Given the description of an element on the screen output the (x, y) to click on. 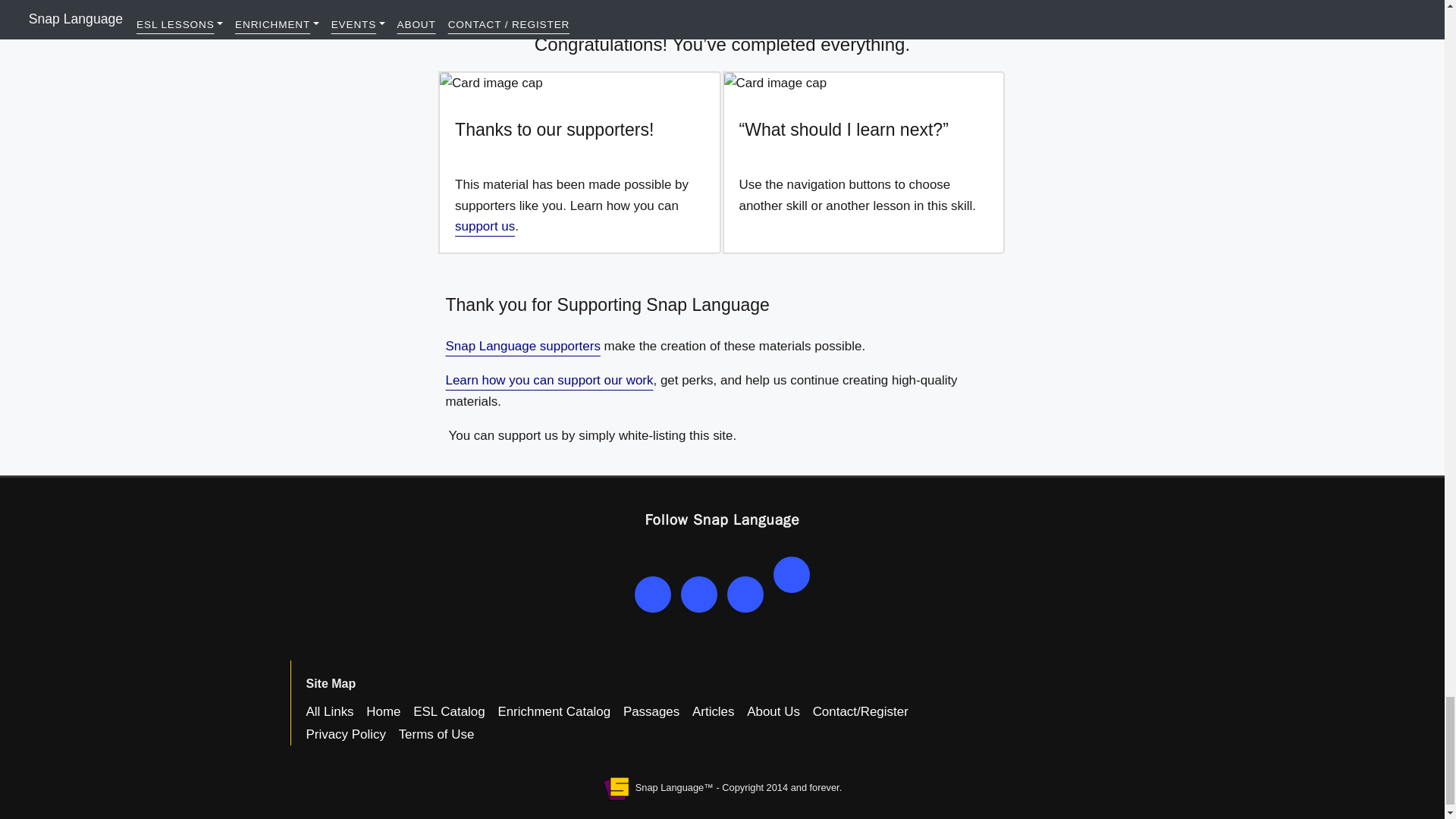
Visit the Snap Language Instagram account in a new tab. (791, 574)
Visit and subscribe to the Snap Language YouTube channel. (652, 593)
